Given the description of an element on the screen output the (x, y) to click on. 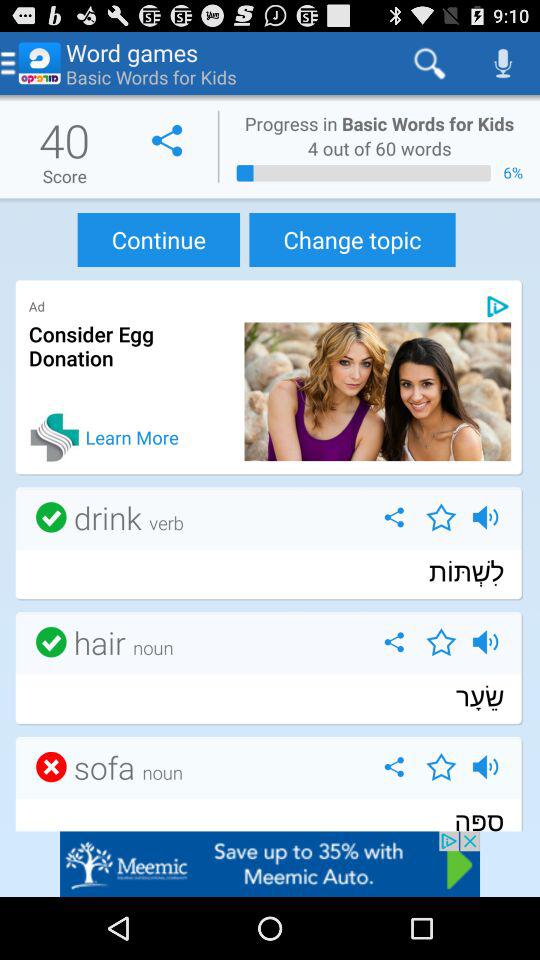
advertisement (497, 306)
